Given the description of an element on the screen output the (x, y) to click on. 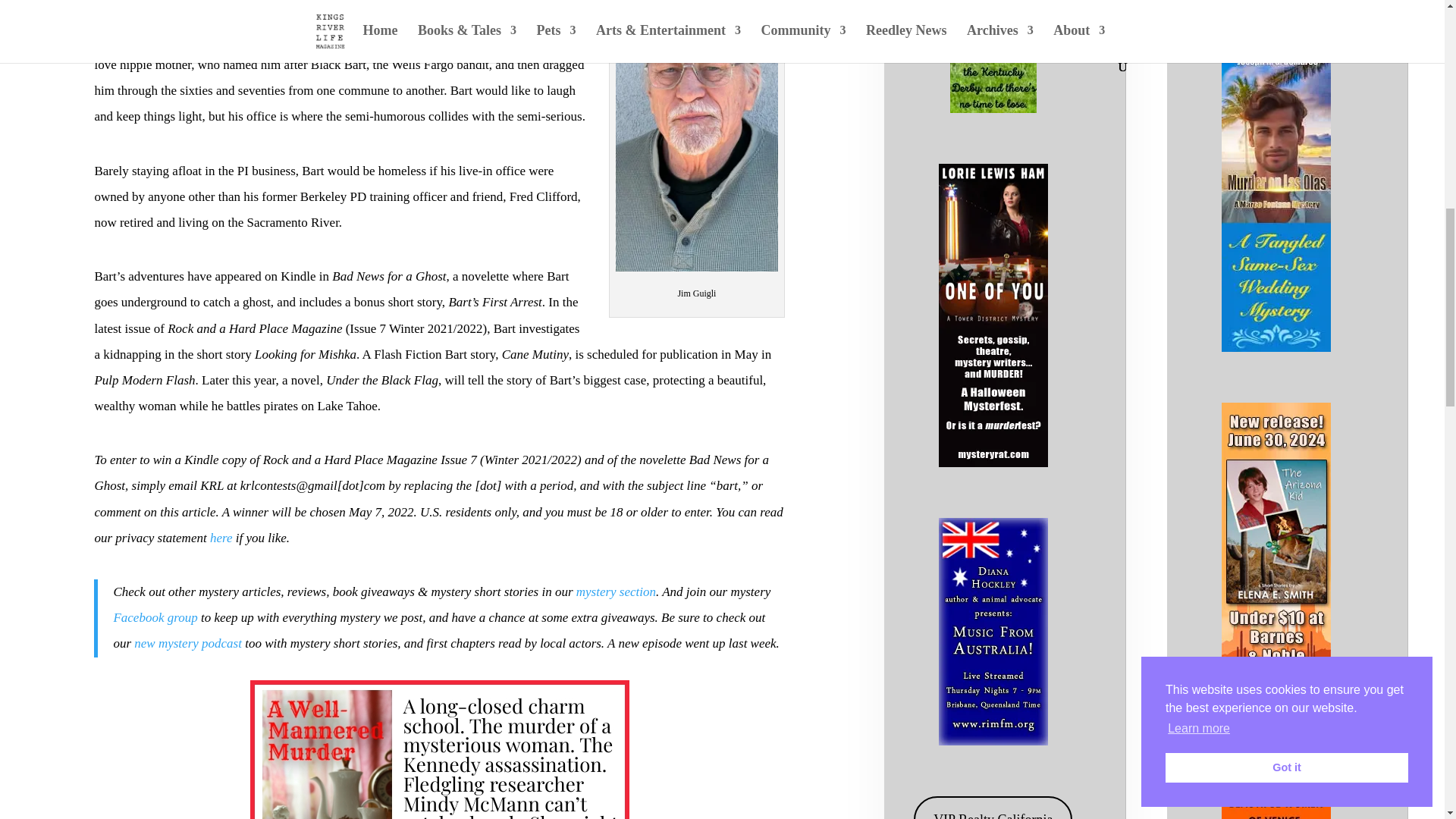
Opens to mystery section (616, 591)
